Given the description of an element on the screen output the (x, y) to click on. 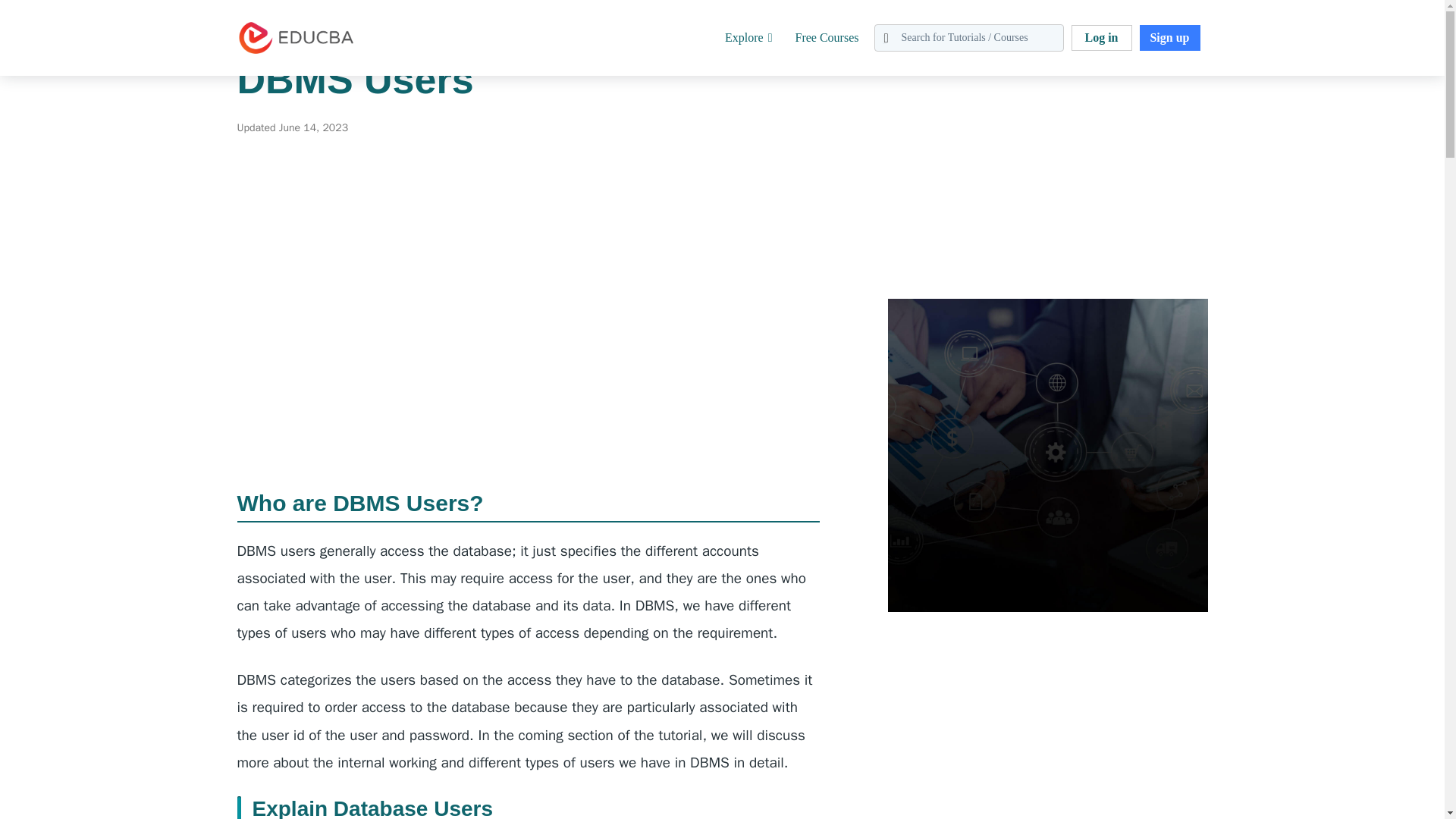
Search (43, 19)
Data Science Tutorials (168, 9)
Home (13, 9)
Sign up (1168, 37)
EDUCBA (259, 62)
Data Science (70, 9)
Explore (748, 37)
Free Courses (826, 37)
Log in (1100, 37)
DBMS Tutorial (267, 9)
